Given the description of an element on the screen output the (x, y) to click on. 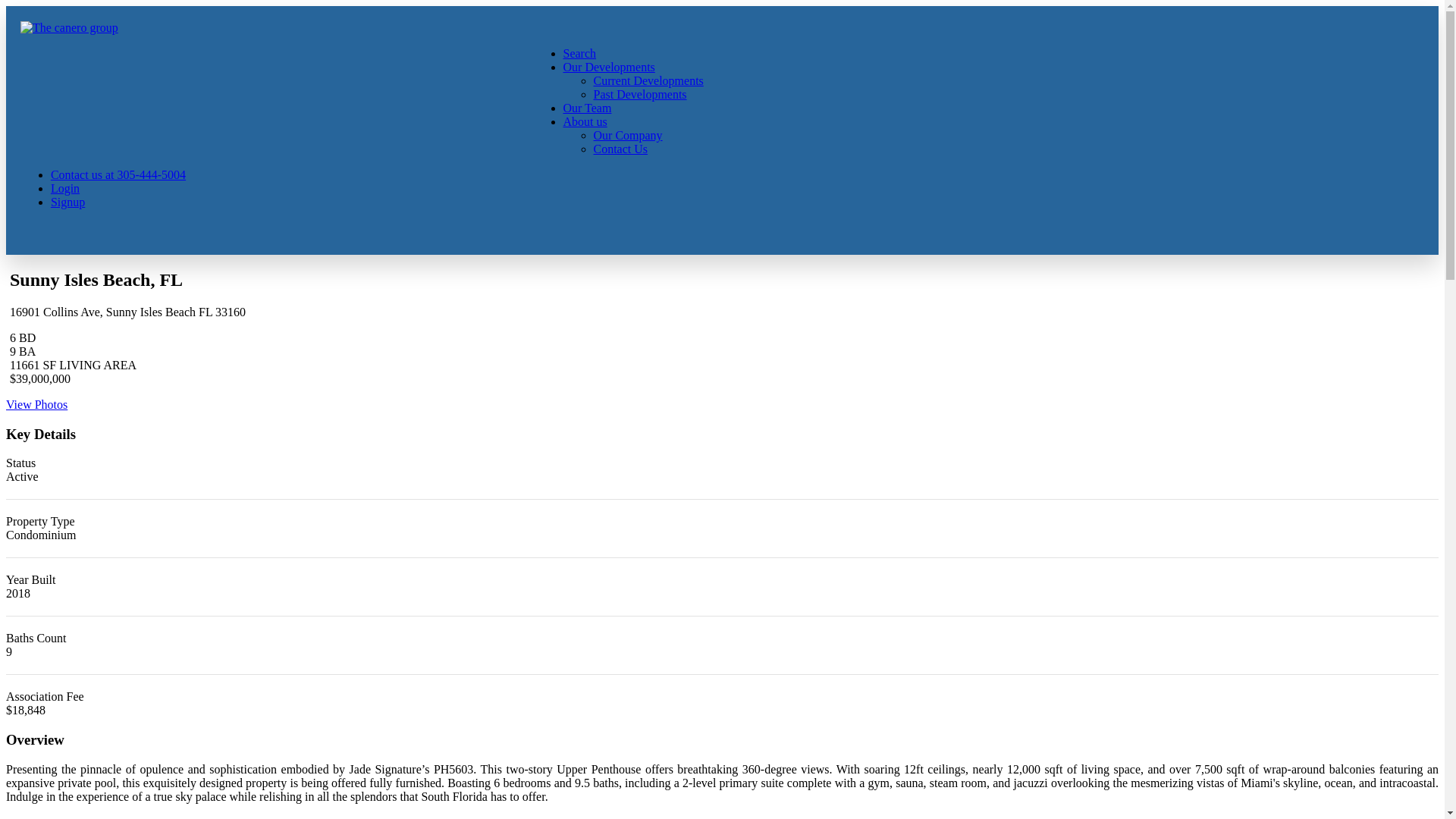
Search (578, 52)
About us (584, 121)
Current Developments (647, 80)
Contact Us (619, 148)
Our Company (627, 134)
Our Team (586, 107)
Contact us at 305-444-5004 (118, 174)
Signup (67, 201)
Past Developments (638, 93)
Login (65, 187)
Our Developments (607, 66)
